Given the description of an element on the screen output the (x, y) to click on. 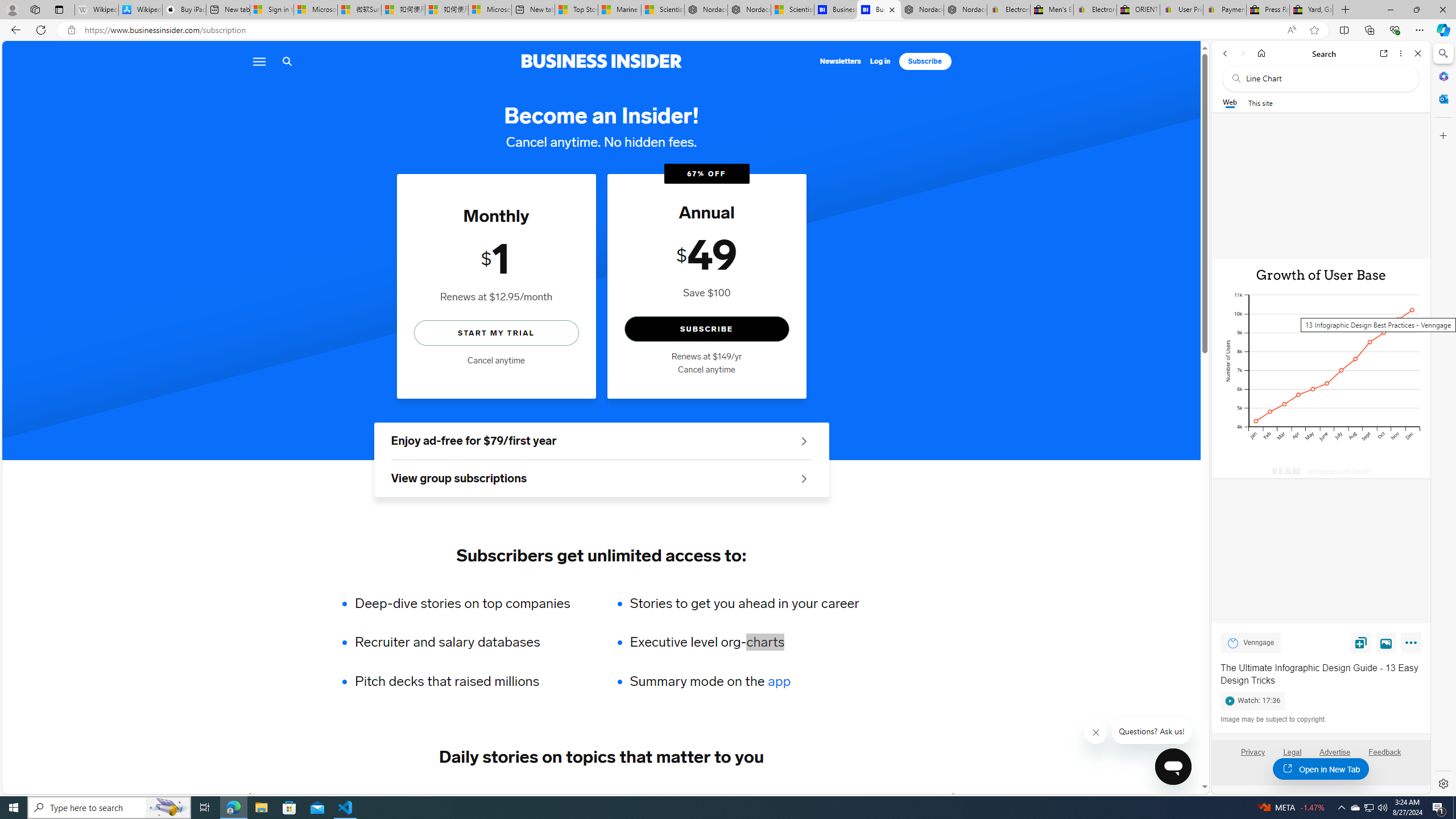
Venngage (1233, 642)
START MY TRIAL (496, 332)
Search icon (286, 61)
Image may be subject to copyright. (1273, 719)
Stories to get you ahead in your career (743, 602)
Menu (257, 61)
app (778, 681)
View group subscriptions (601, 478)
